Given the description of an element on the screen output the (x, y) to click on. 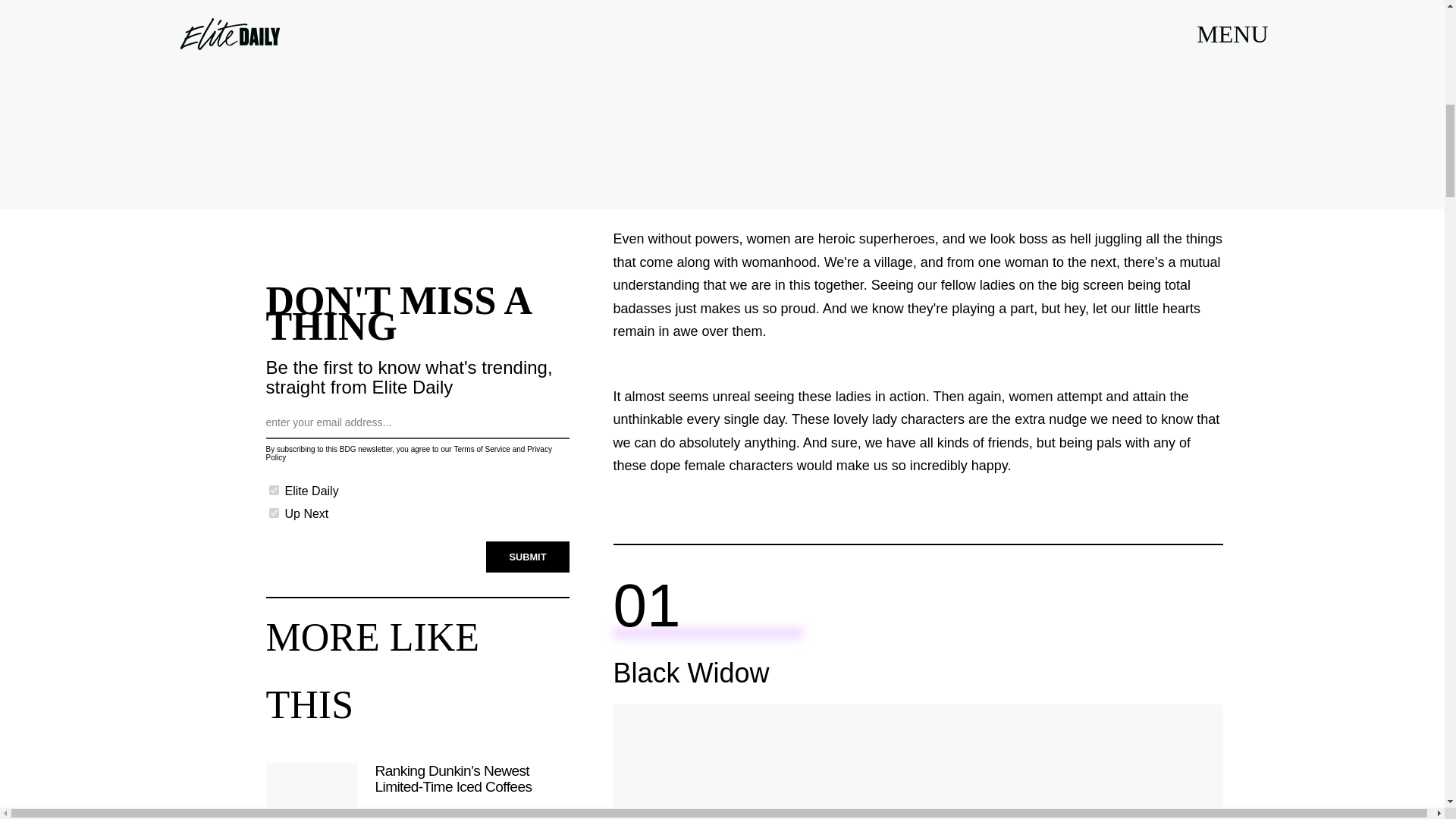
Privacy Policy (407, 453)
Terms of Service (480, 449)
SUBMIT (527, 557)
